Given the description of an element on the screen output the (x, y) to click on. 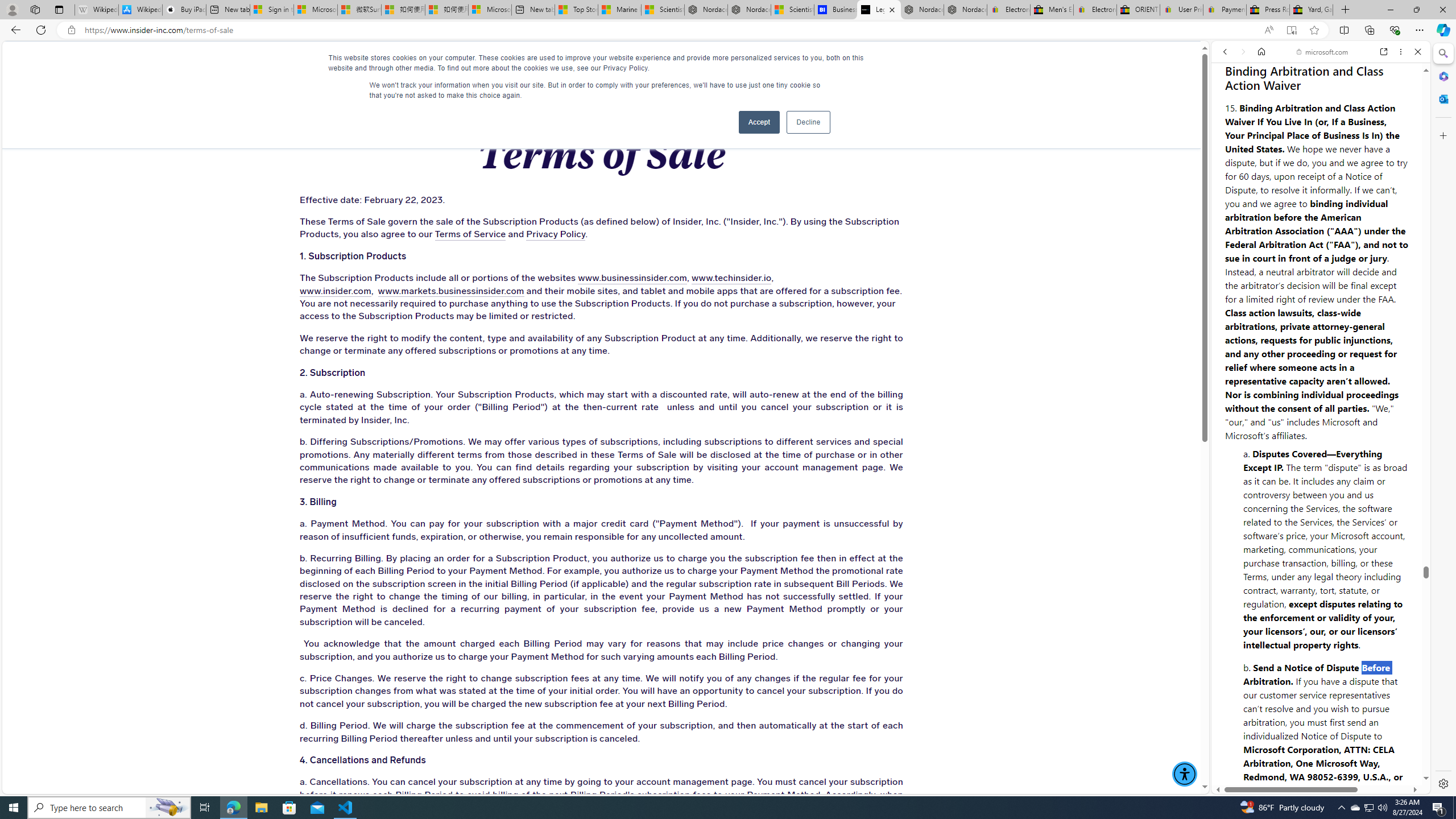
WHO WE ARE (347, 62)
microsoft.com (1323, 51)
Open in New Tab (1321, 768)
www.insider.com (334, 291)
www.markets.businessinsider.com (450, 291)
www.businessinsider.com (632, 278)
